Given the description of an element on the screen output the (x, y) to click on. 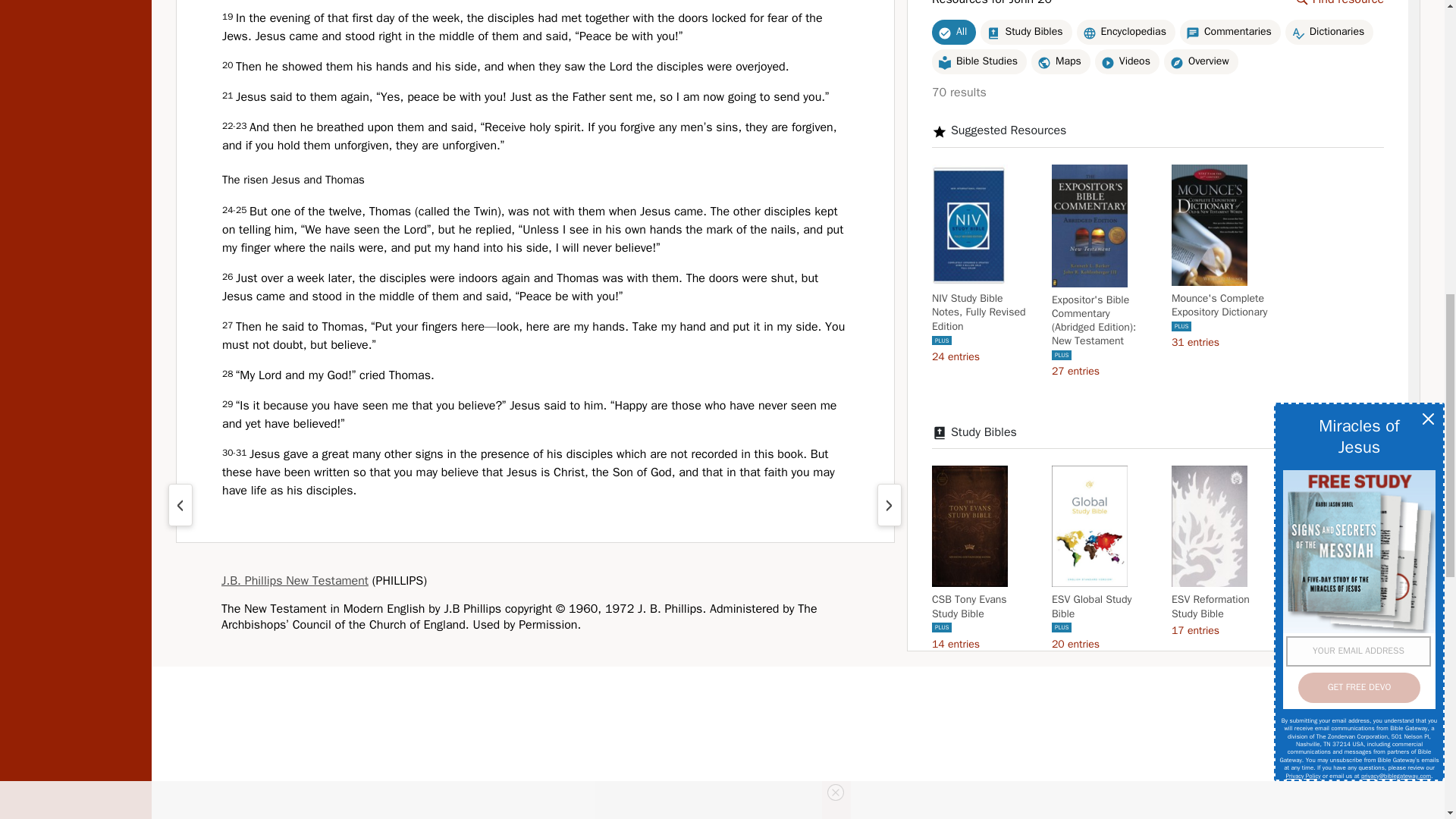
J.B. Phillips New Testament (294, 580)
3rd party ad content (797, 788)
